Given the description of an element on the screen output the (x, y) to click on. 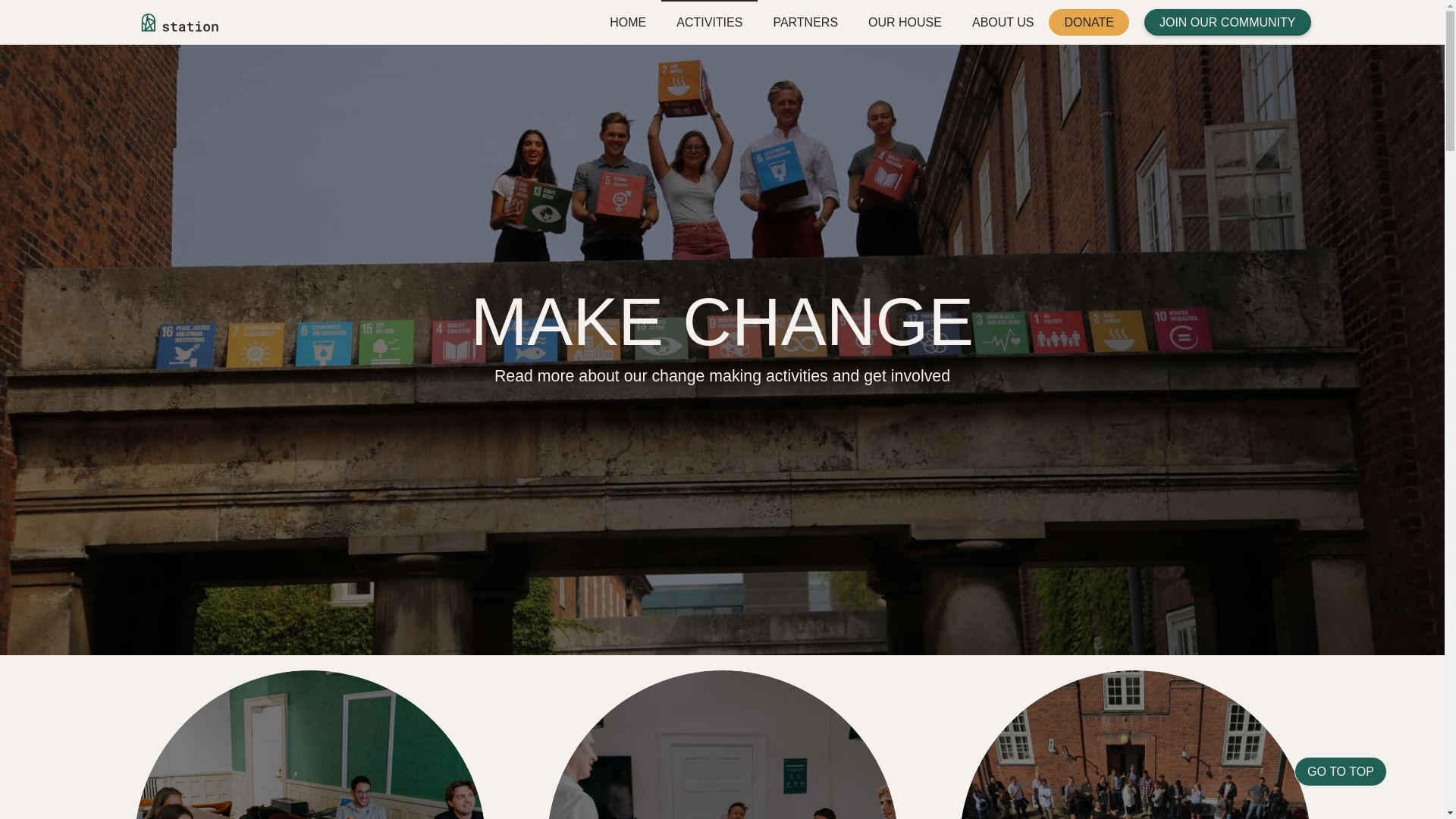
ABOUT US (1002, 22)
ACTIVITIES (709, 22)
Become part of a community catalysing innovation (1134, 744)
GO TO TOP (1340, 771)
Learn more about our pioneering projects (722, 744)
HOME (627, 22)
PARTNERS (805, 22)
OUR HOUSE (904, 22)
JOIN OUR COMMUNITY (1227, 22)
DONATE (1088, 22)
Join one of our empowering programmes (308, 744)
